Given the description of an element on the screen output the (x, y) to click on. 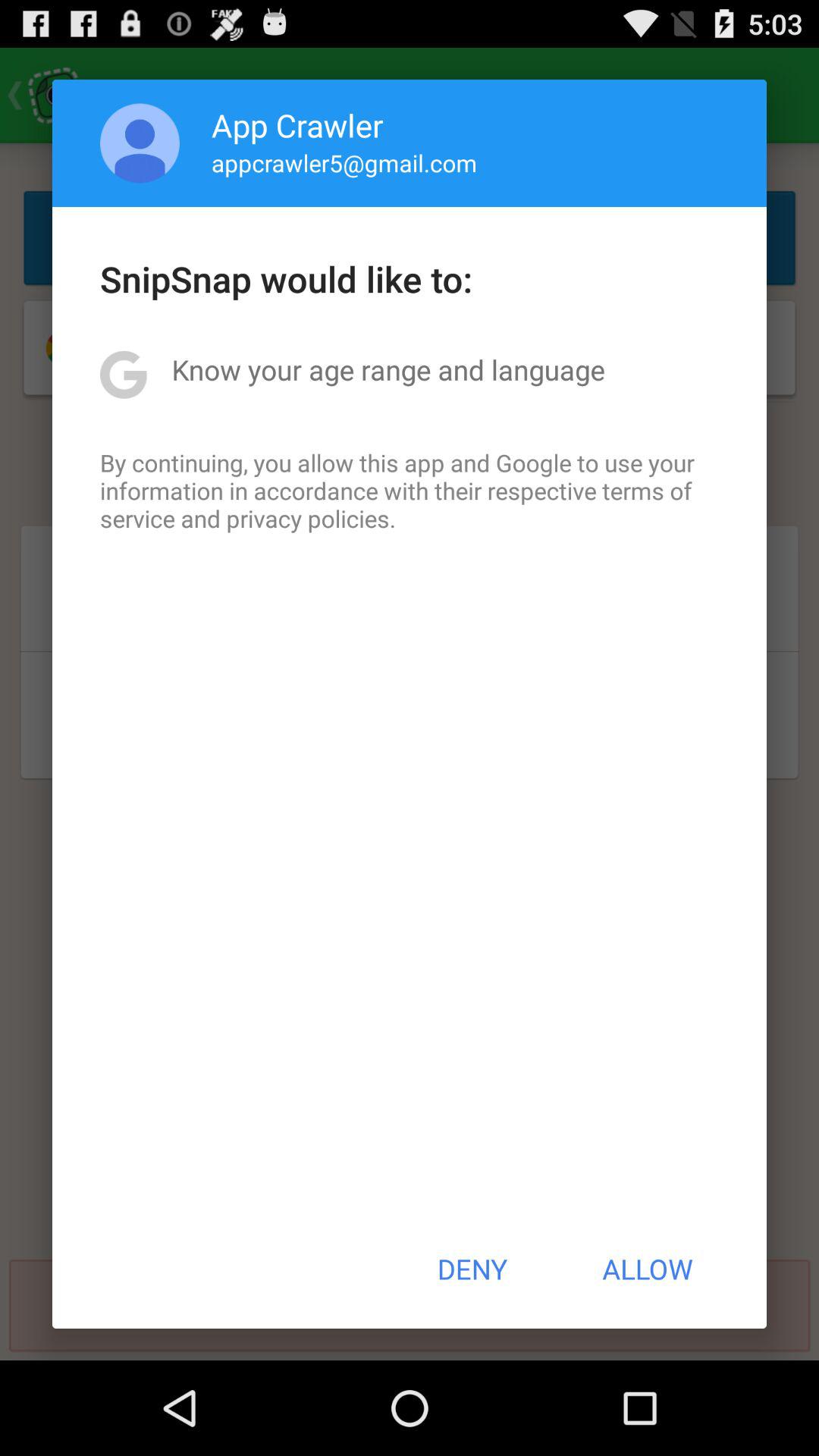
turn off the app next to the app crawler app (139, 143)
